Given the description of an element on the screen output the (x, y) to click on. 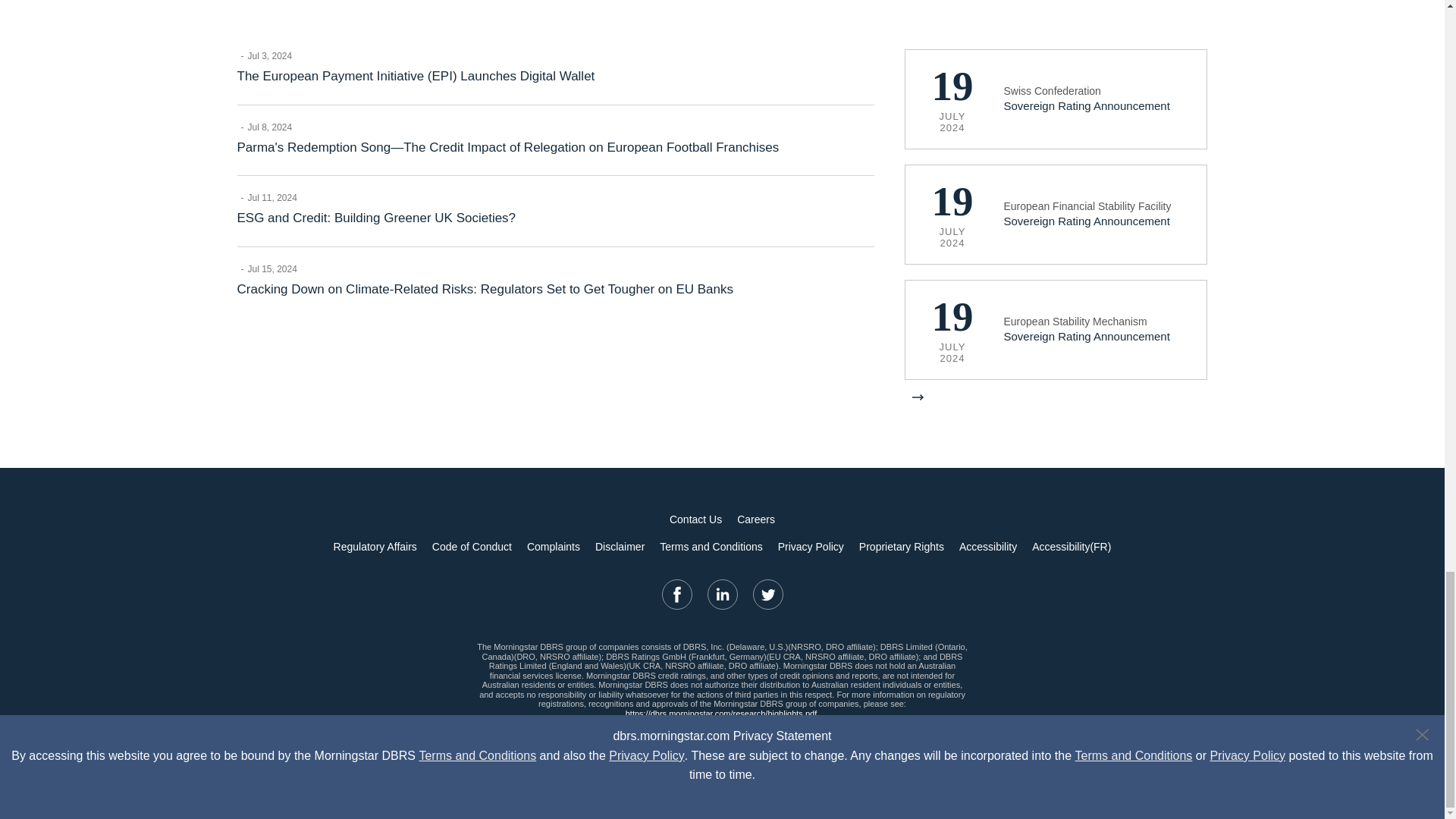
Related Events (1055, 207)
